Given the description of an element on the screen output the (x, y) to click on. 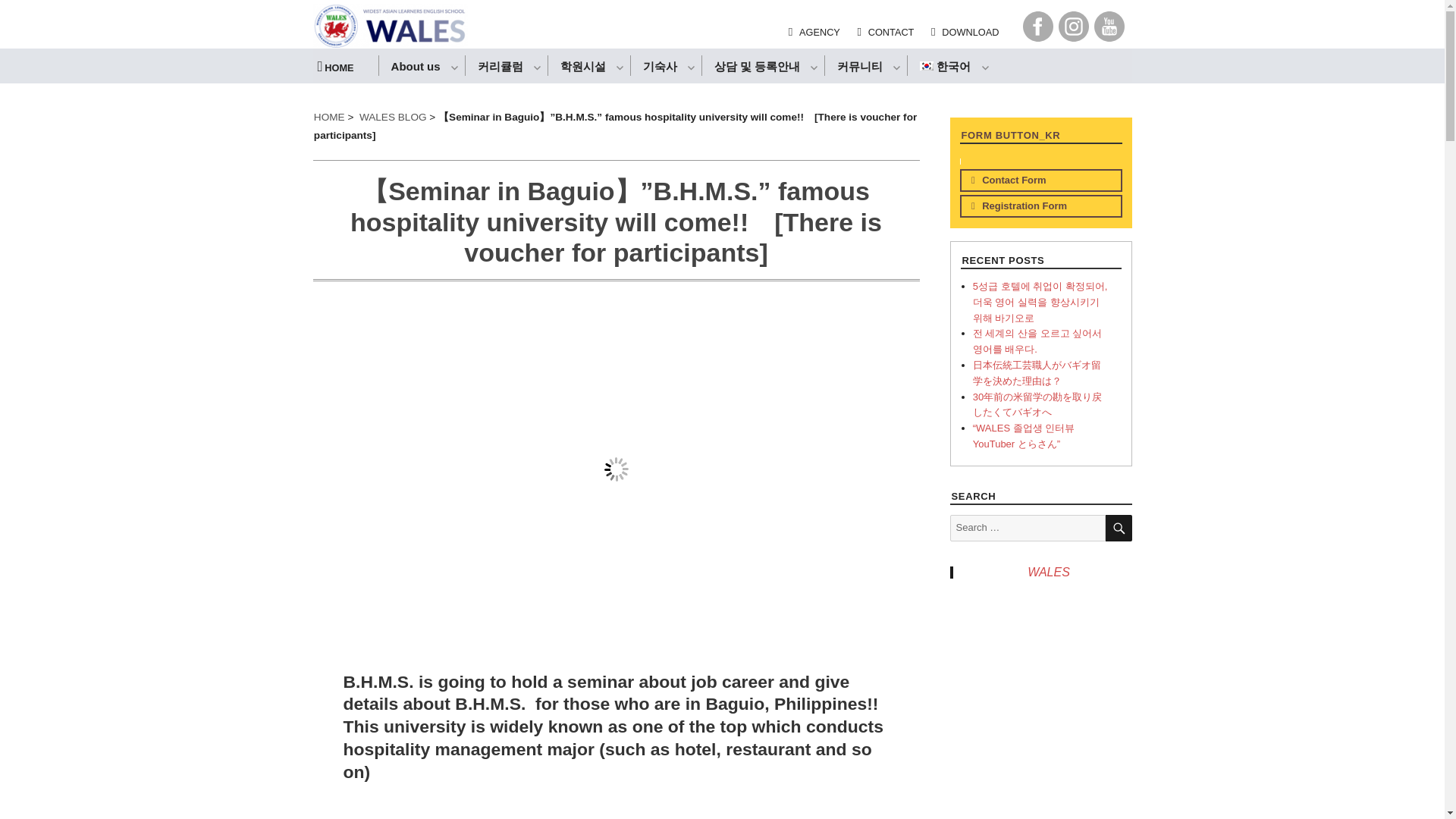
AGENCY (808, 31)
facebook (1037, 26)
youtube (1108, 26)
HOME (339, 65)
CONTACT (879, 31)
instagram (1073, 26)
About us (421, 65)
DOWNLOAD (958, 31)
